Given the description of an element on the screen output the (x, y) to click on. 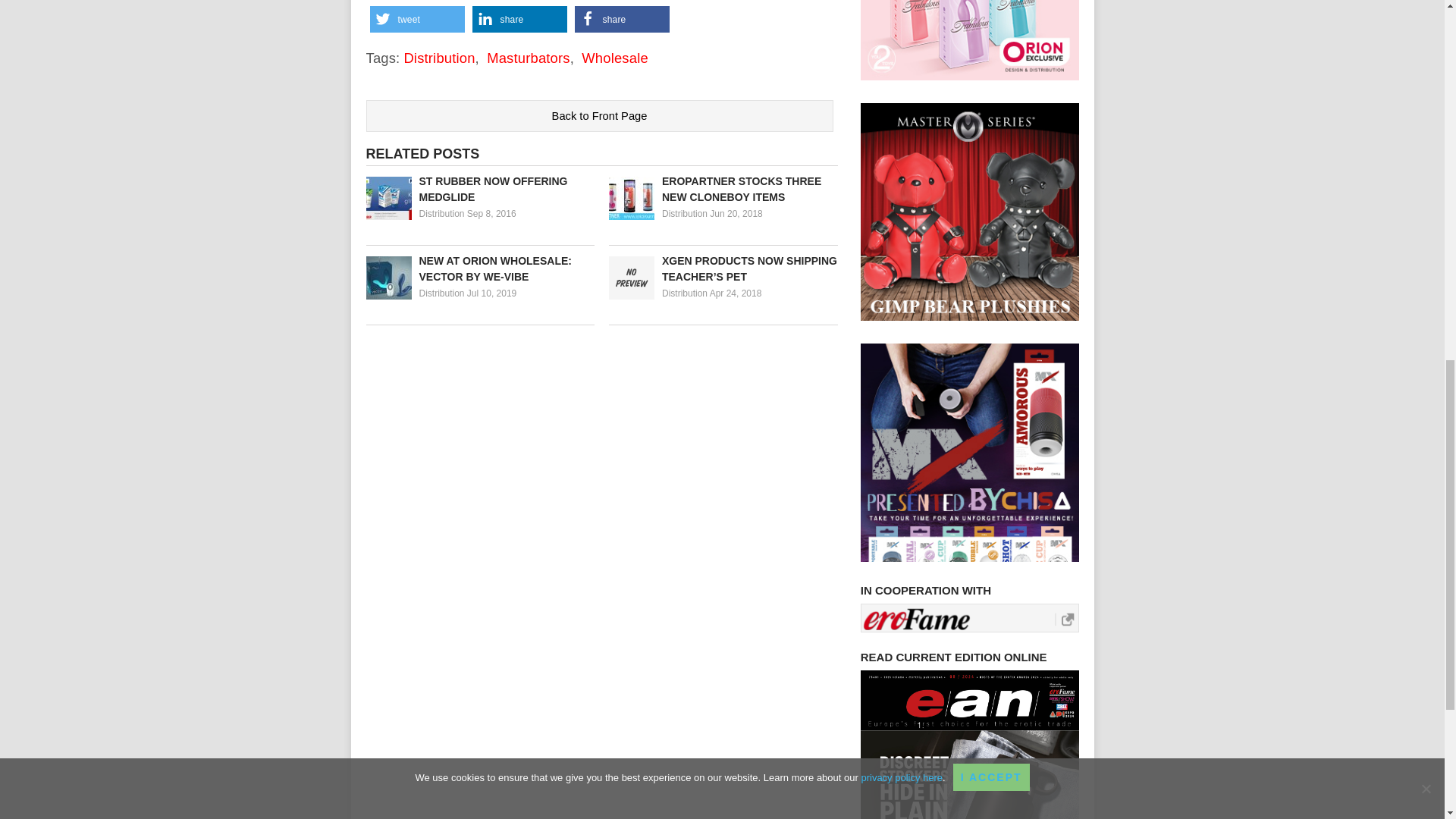
Share on Facebook (622, 18)
tweet  (416, 18)
Wholesale (613, 57)
NEW AT ORION WHOLESALE: VECTOR BY WE-VIBE (479, 269)
ST Rubber now offering MedGlide (479, 189)
Distribution (684, 293)
ST RUBBER NOW OFFERING MEDGLIDE (479, 189)
EROPARTNER STOCKS THREE NEW CLONEBOY ITEMS (723, 189)
New at ORION Wholesale: Vector by We-Vibe (479, 269)
Masturbators (528, 57)
